Given the description of an element on the screen output the (x, y) to click on. 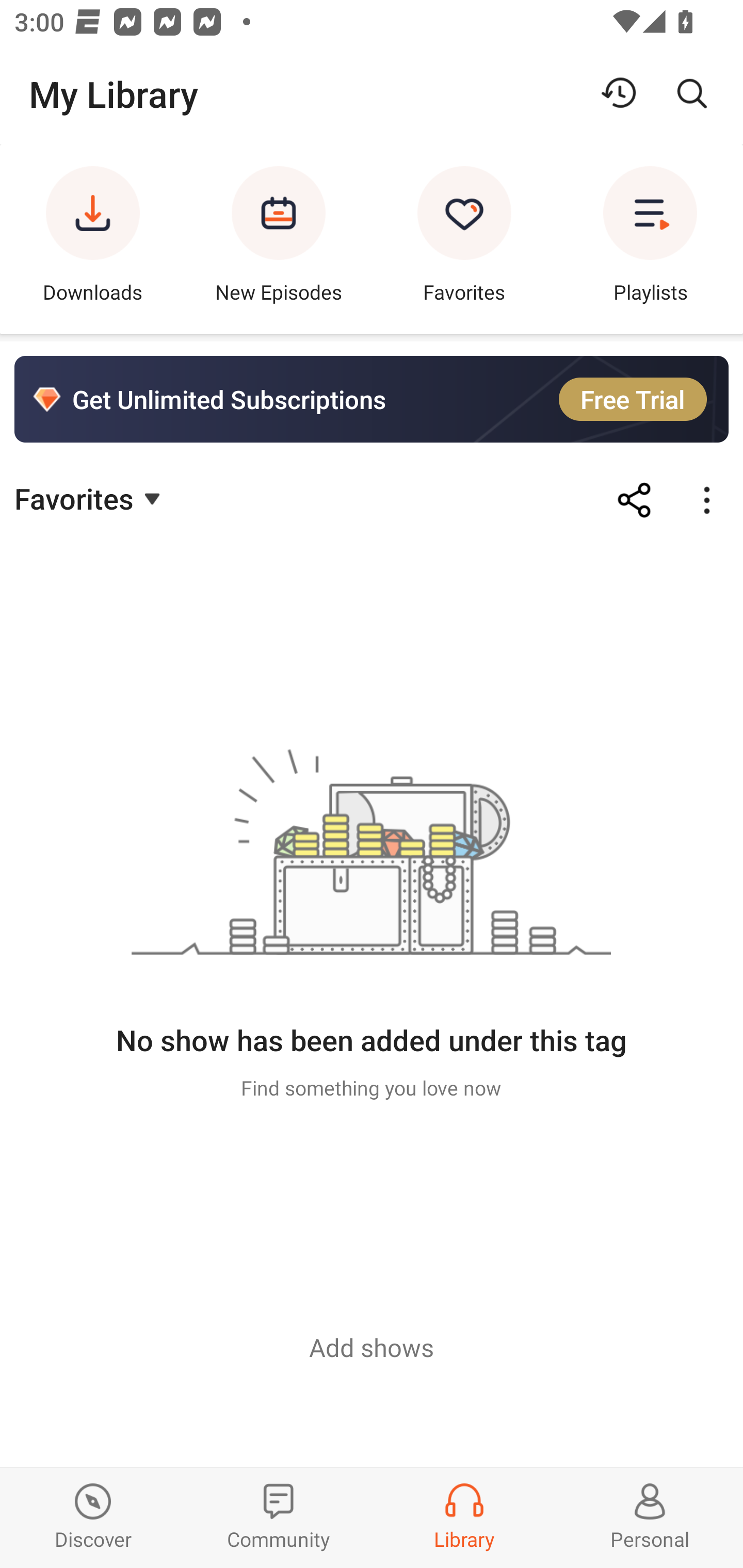
Downloads (92, 238)
New Episodes (278, 238)
Favorites (464, 238)
Playlists (650, 238)
Get Unlimited Subscriptions Free Trial (371, 398)
Free Trial (632, 398)
Favorites (90, 497)
Add shows (371, 1346)
Discover (92, 1517)
Community (278, 1517)
Library (464, 1517)
Profiles and Settings Personal (650, 1517)
